Given the description of an element on the screen output the (x, y) to click on. 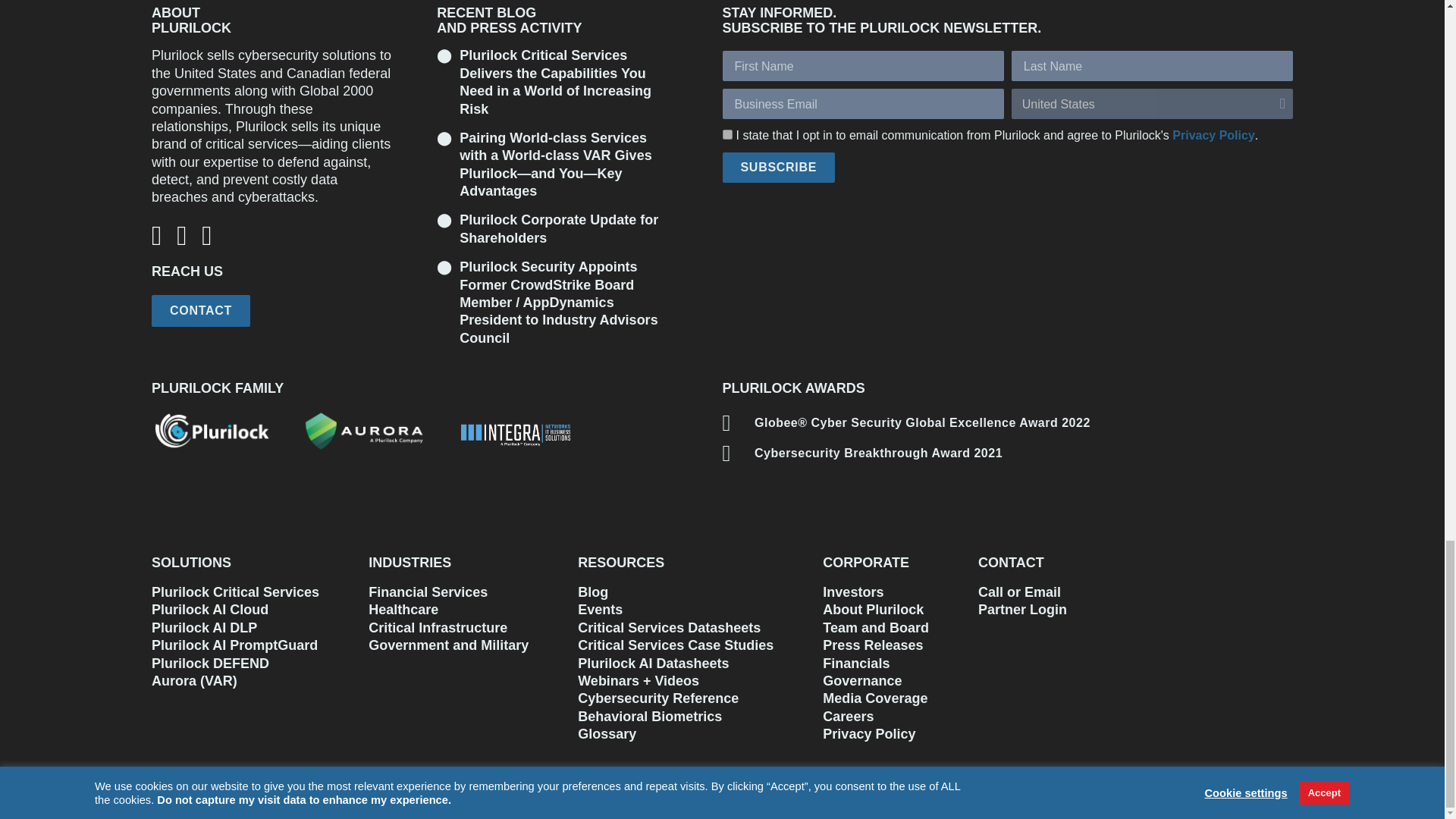
on (727, 134)
